Given the description of an element on the screen output the (x, y) to click on. 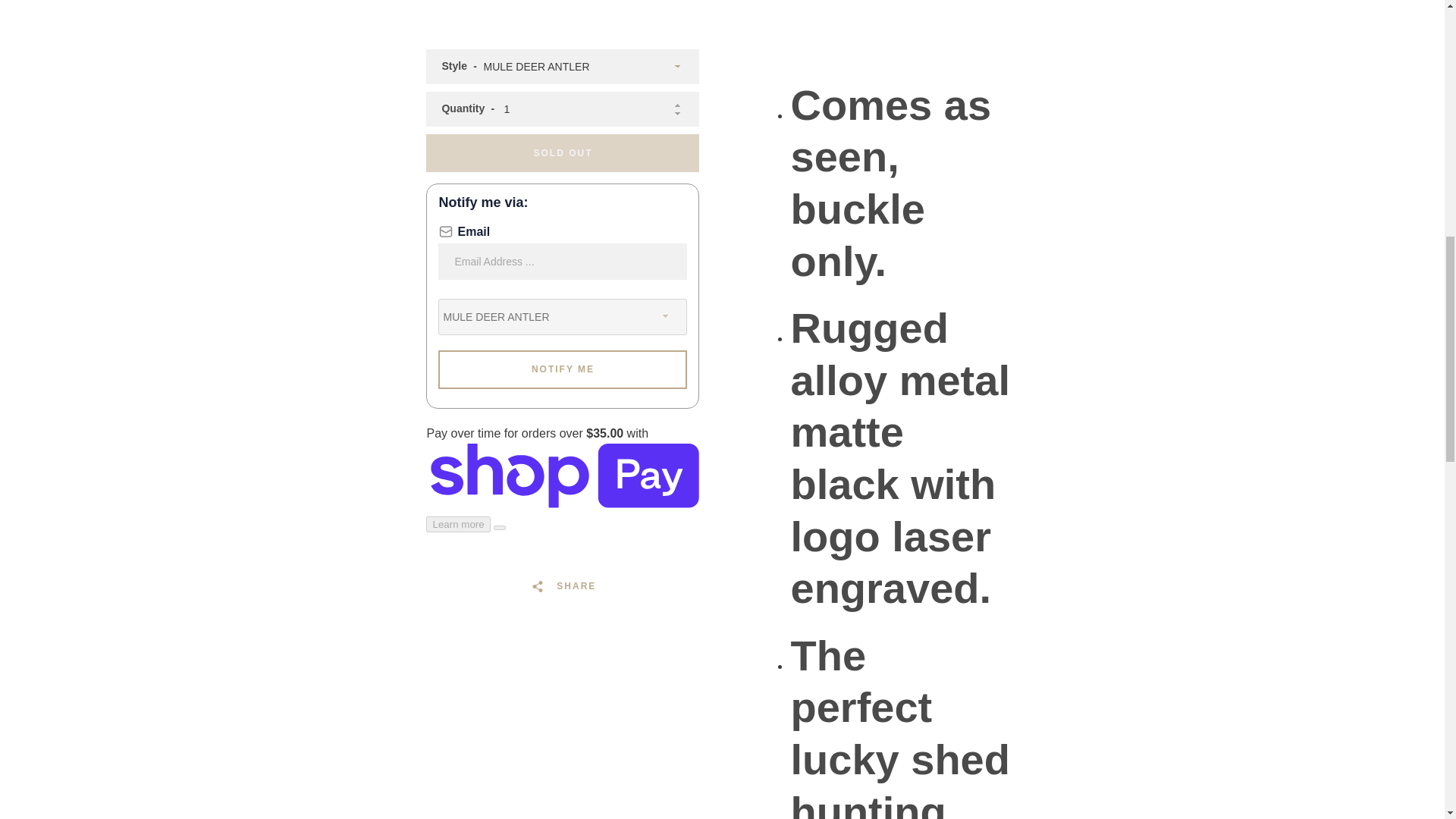
1 (562, 108)
